Given the description of an element on the screen output the (x, y) to click on. 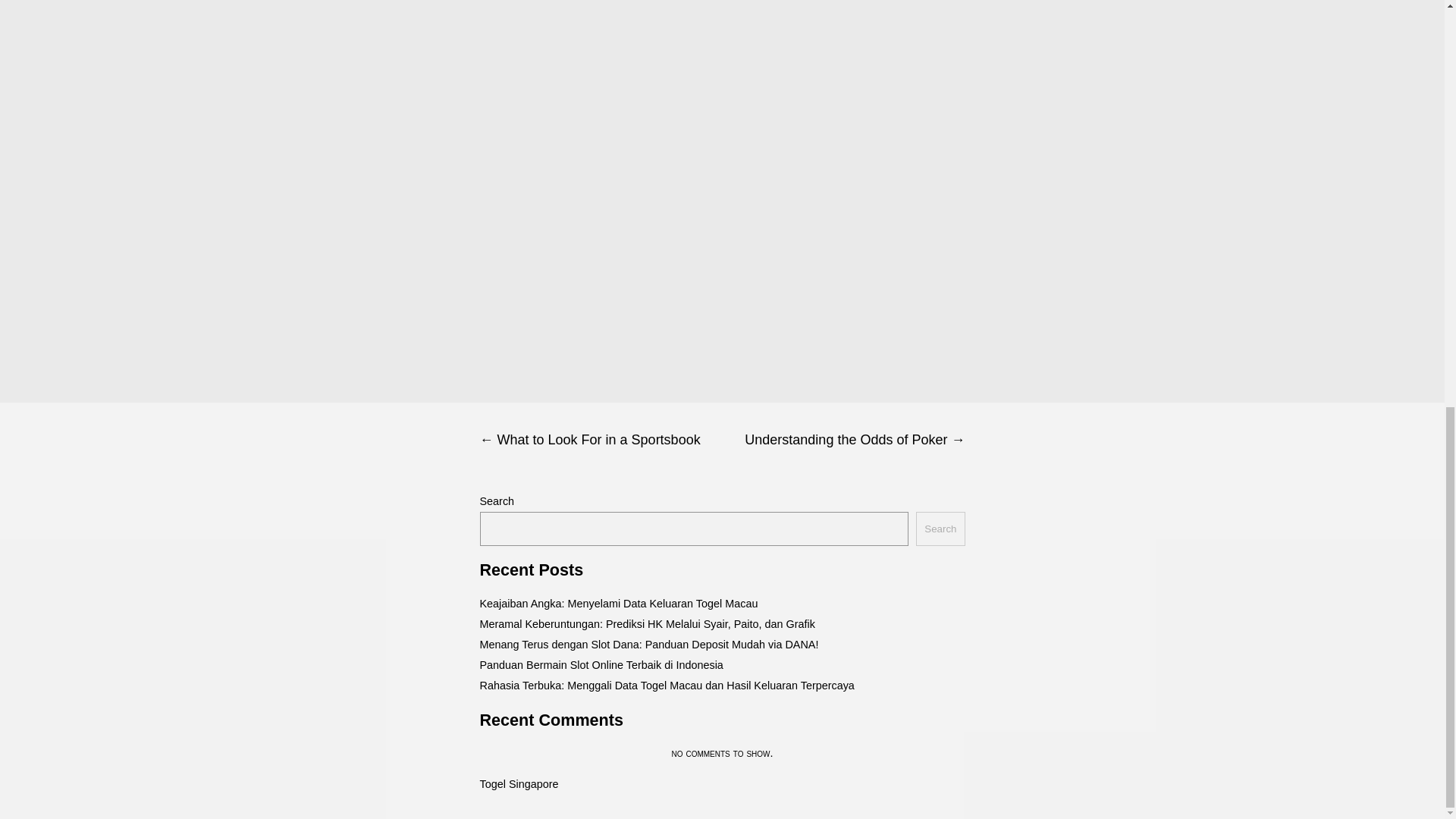
Togel Singapore (518, 784)
Understanding the Odds of Poker (842, 439)
Keajaiban Angka: Menyelami Data Keluaran Togel Macau (618, 603)
What to Look For in a Sportsbook (600, 439)
Panduan Bermain Slot Online Terbaik di Indonesia (600, 664)
Search (939, 528)
